Given the description of an element on the screen output the (x, y) to click on. 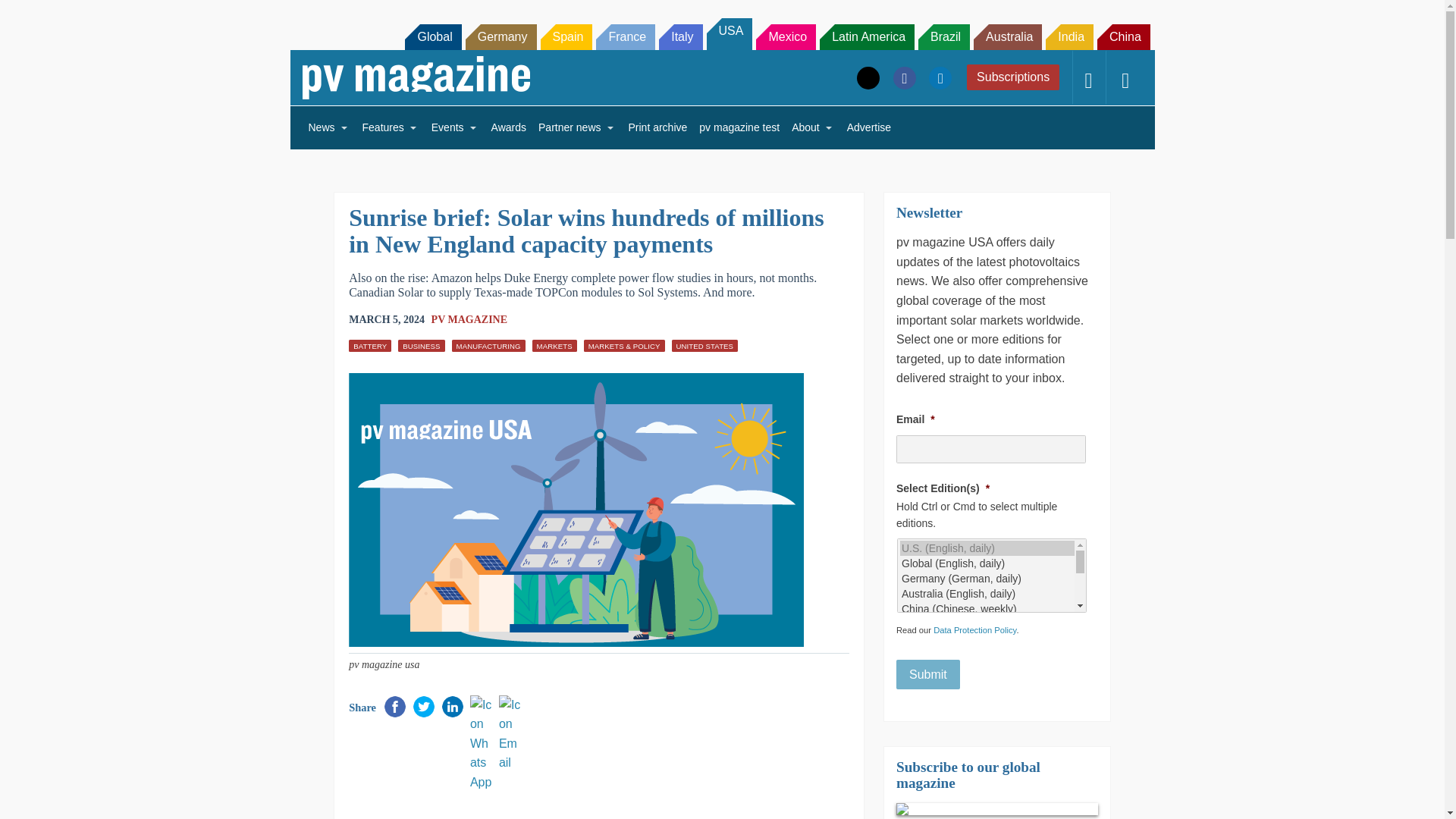
Submit (927, 675)
Global (432, 36)
Spain (566, 36)
Italy (680, 36)
Posts by pv magazine (468, 319)
Subscriptions (1012, 77)
China (1123, 36)
Mexico (785, 36)
Australia (1008, 36)
USA (729, 33)
Latin America (866, 36)
Search (32, 15)
Brazil (943, 36)
India (1069, 36)
Germany (501, 36)
